Given the description of an element on the screen output the (x, y) to click on. 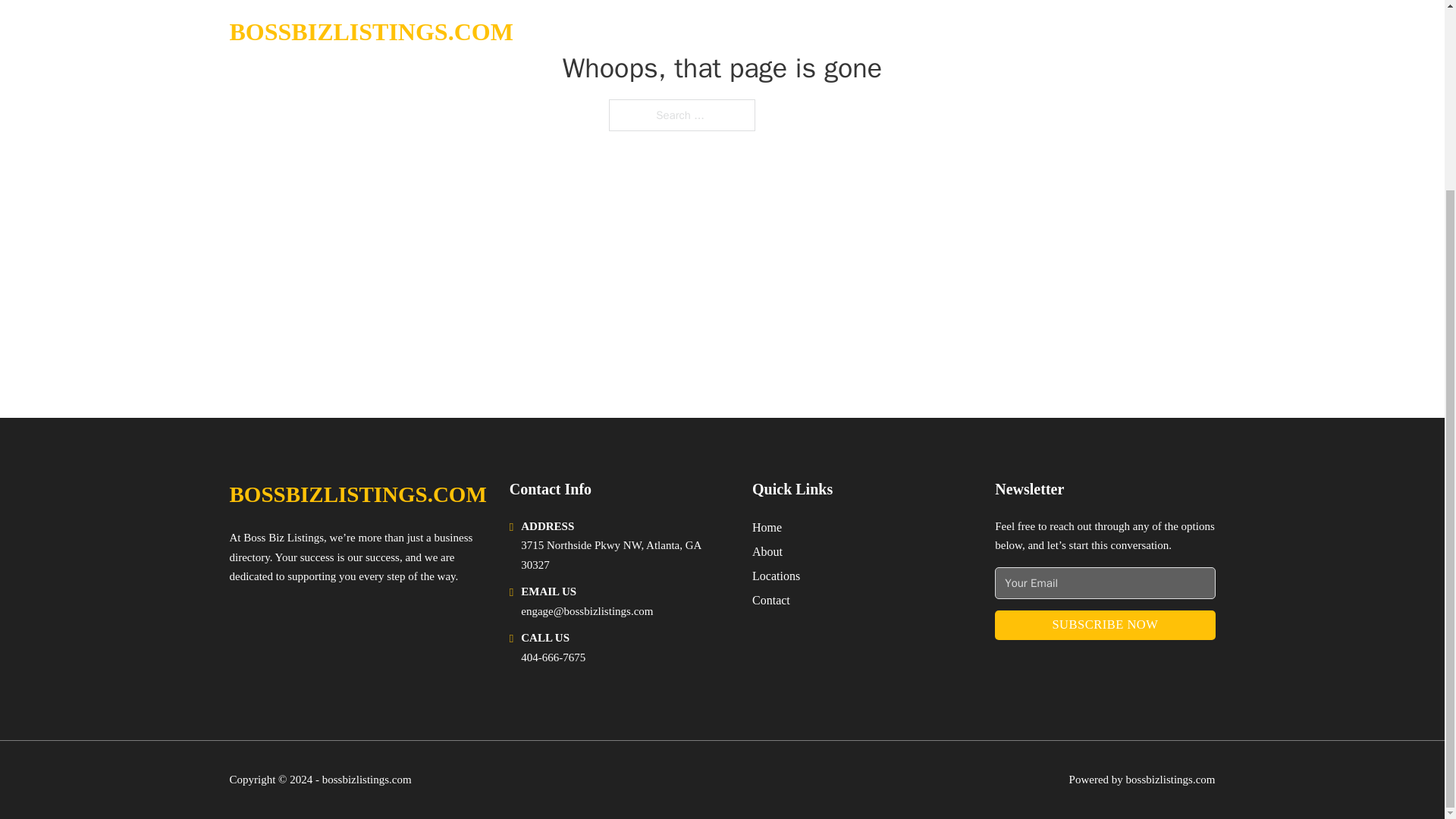
About (767, 551)
Home (766, 526)
BOSSBIZLISTINGS.COM (357, 494)
Locations (775, 575)
SUBSCRIBE NOW (1104, 624)
404-666-7675 (553, 657)
Contact (771, 599)
